Given the description of an element on the screen output the (x, y) to click on. 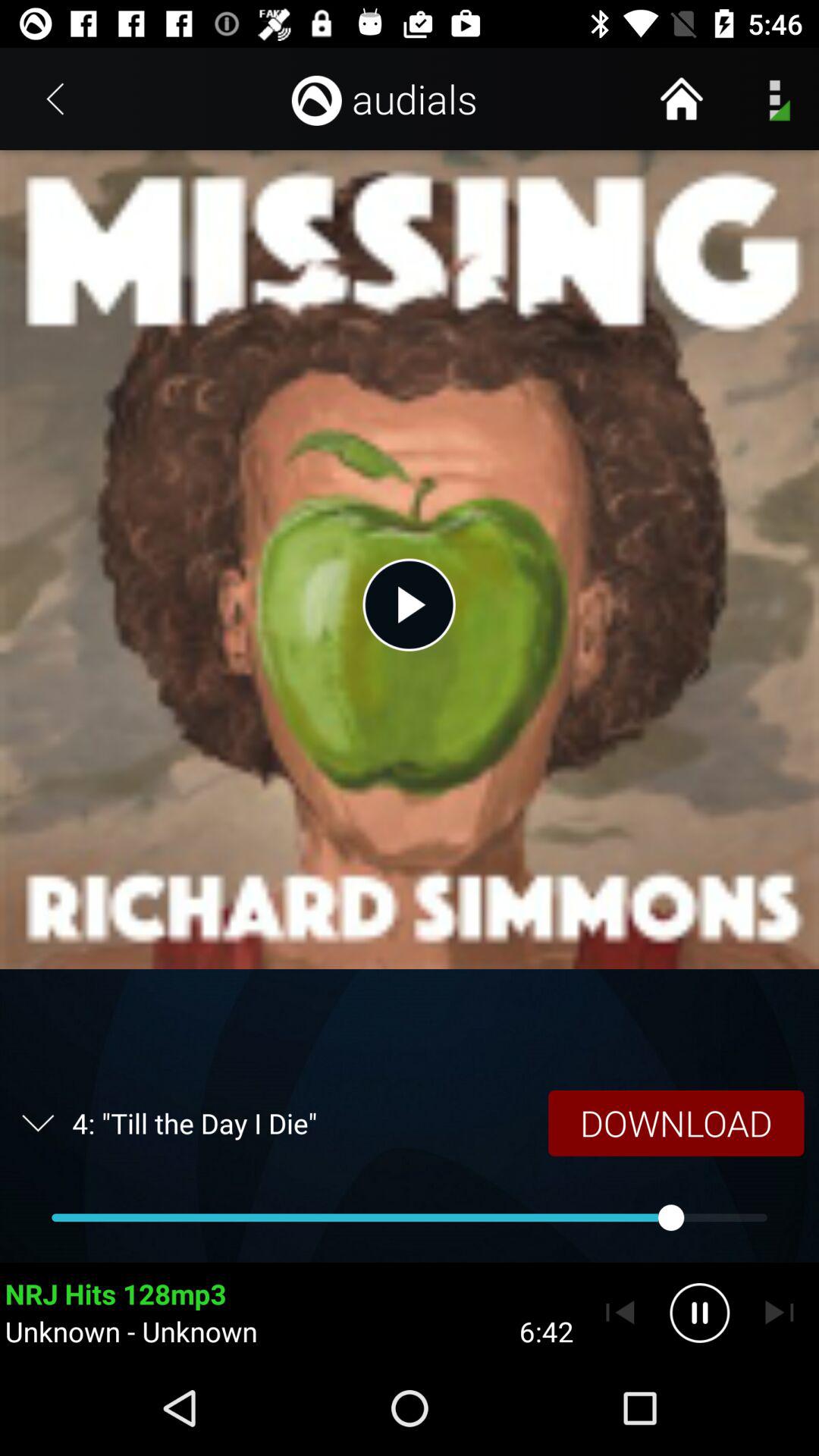
swipe until the download icon (676, 1123)
